Given the description of an element on the screen output the (x, y) to click on. 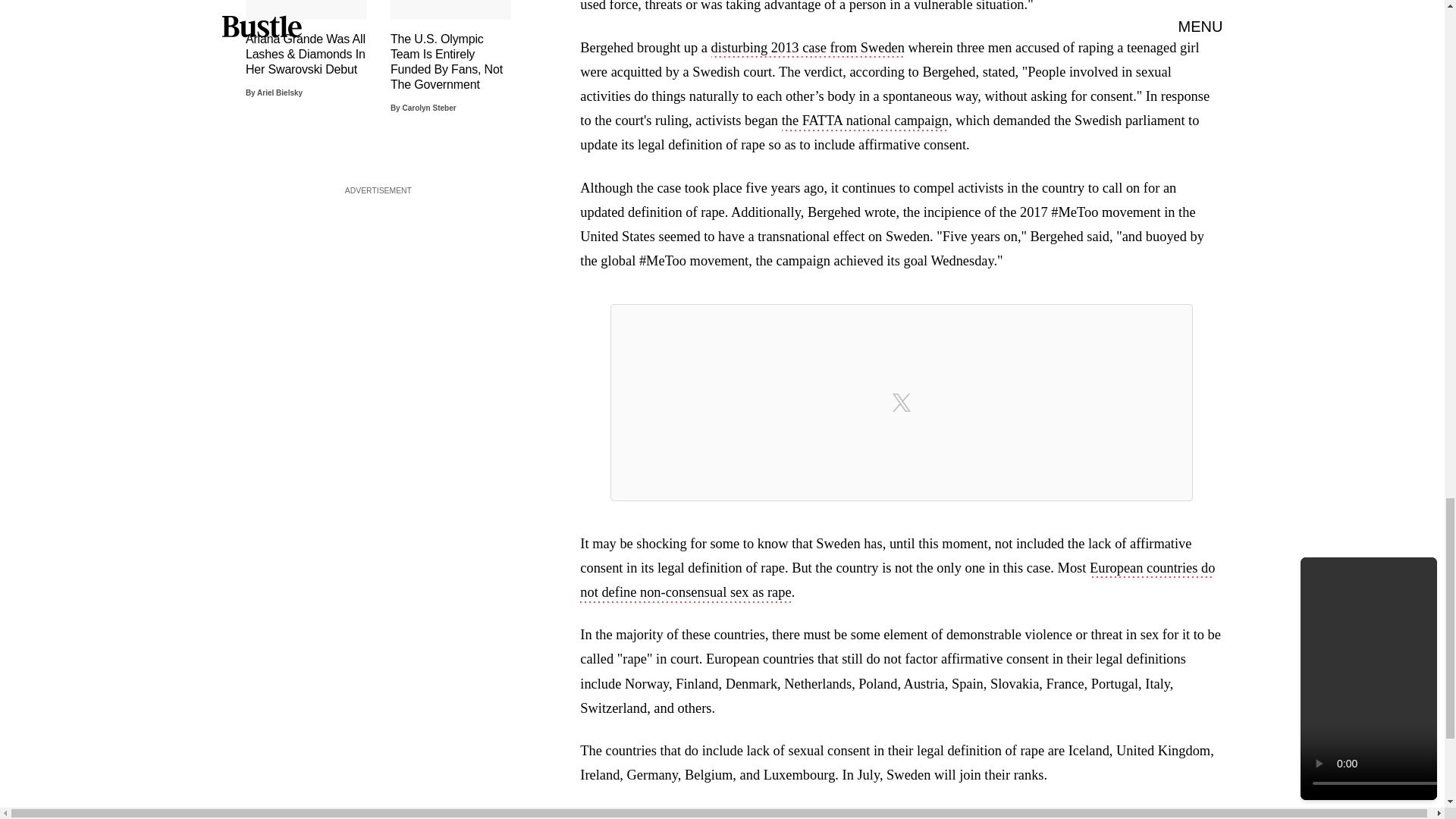
Amnesty International's Anna Blus said (775, 814)
disturbing 2013 case from Sweden (807, 49)
European countries do not define non-consensual sex as rape (896, 581)
the FATTA national campaign (865, 122)
